Given the description of an element on the screen output the (x, y) to click on. 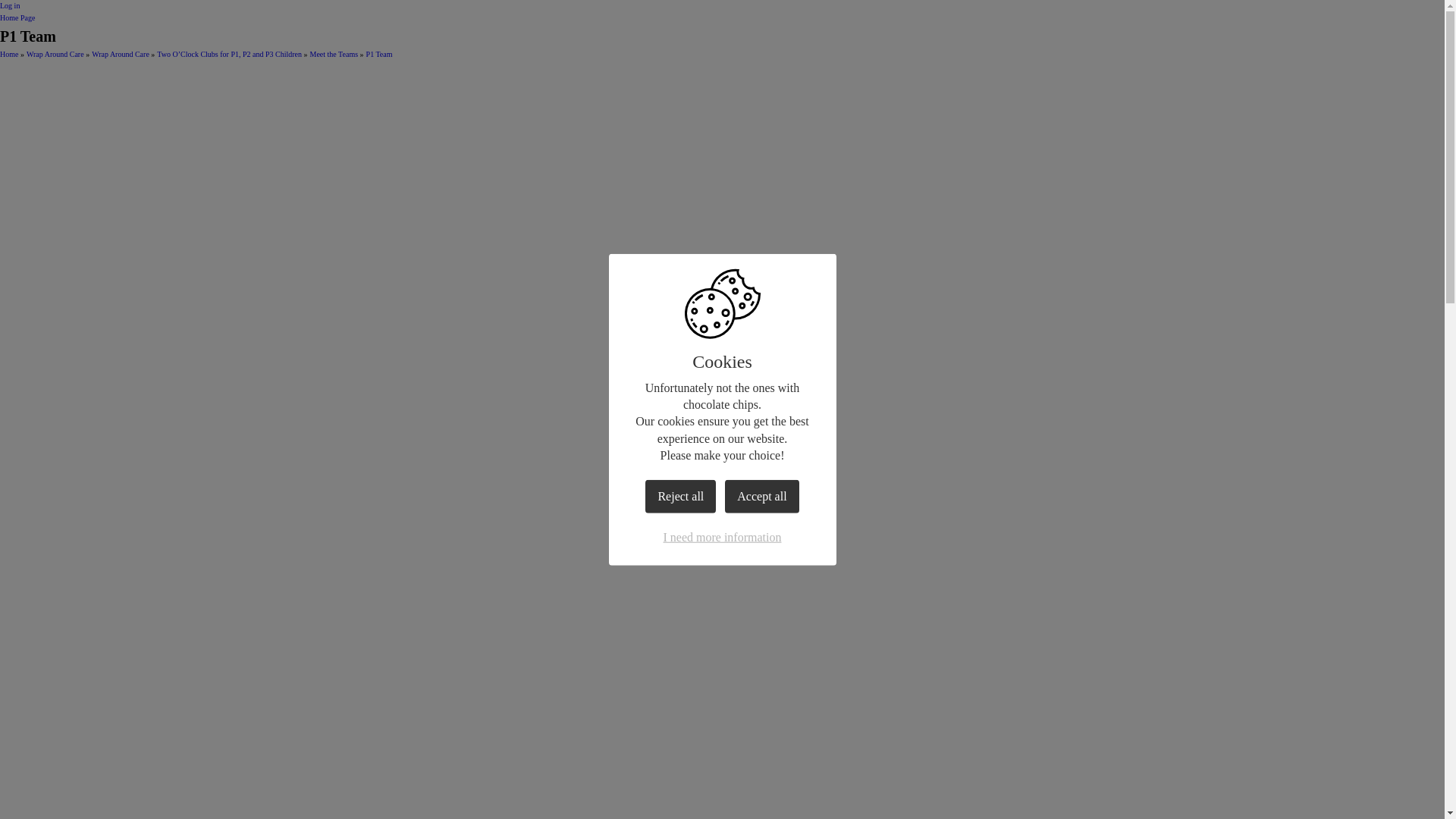
Wrap Around Care (120, 53)
Home Page (17, 17)
Home Page (17, 17)
Log in (10, 5)
Wrap Around Care (55, 53)
P1 Team (379, 53)
Home (8, 53)
Meet the Teams (334, 53)
